Given the description of an element on the screen output the (x, y) to click on. 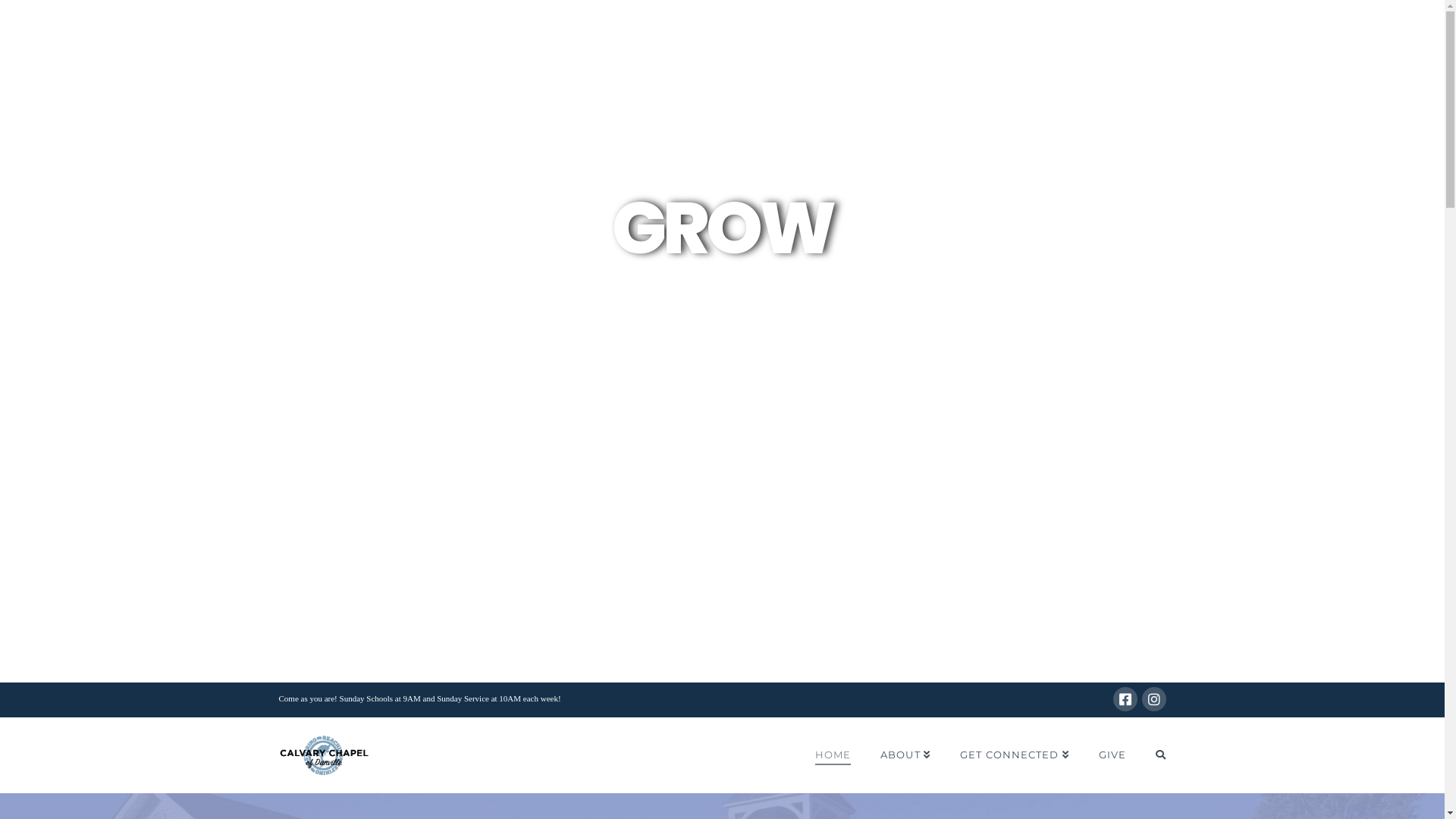
I'm new. Element type: text (654, 316)
Facebook Element type: hover (1125, 699)
HOME Element type: text (832, 755)
ABOUT Element type: text (904, 755)
Watch online. Element type: text (778, 316)
GET CONNECTED Element type: text (1013, 755)
Instagram Element type: hover (1154, 699)
GIVE Element type: text (1111, 755)
